Given the description of an element on the screen output the (x, y) to click on. 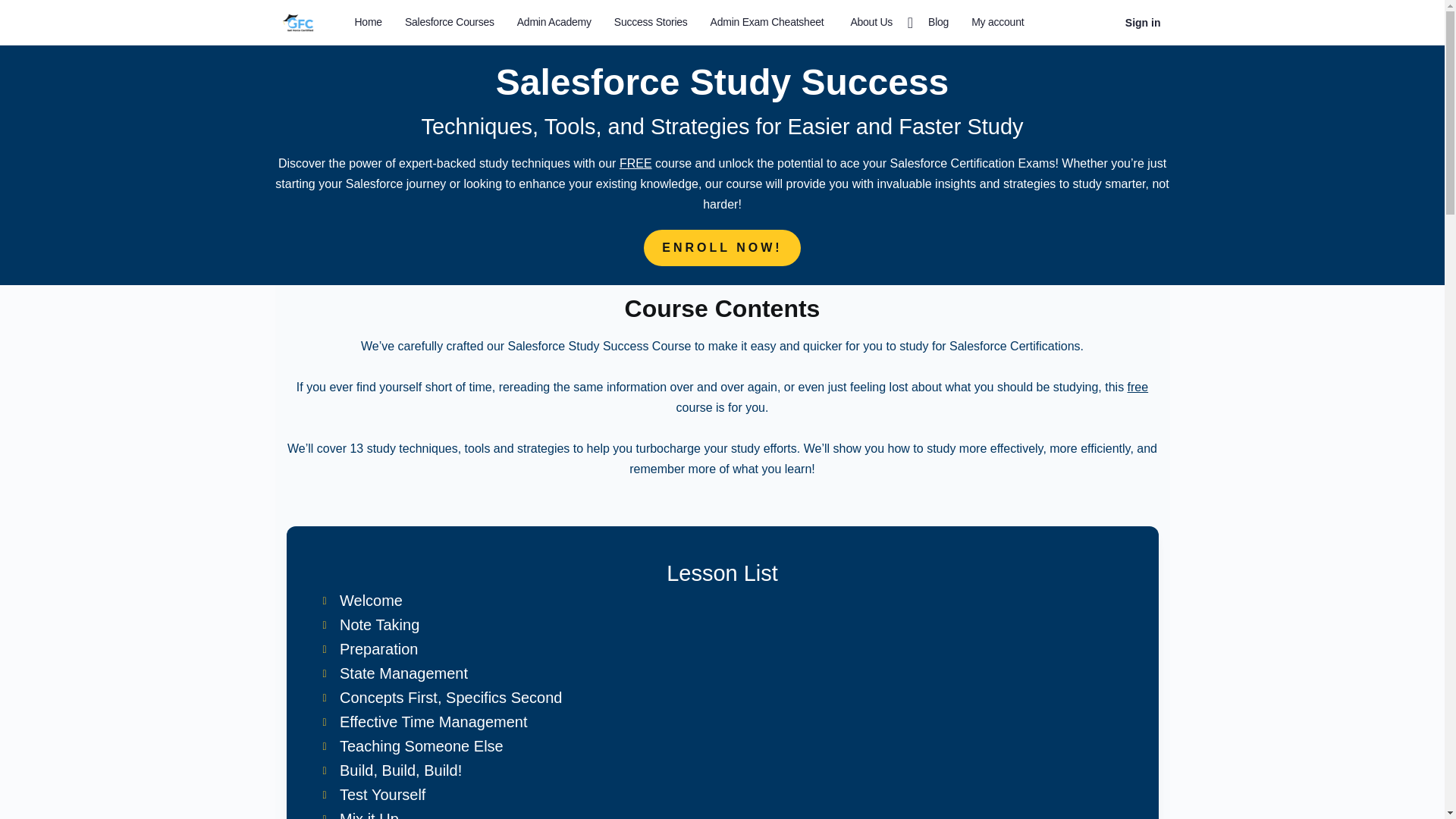
Salesforce Courses (449, 22)
Home (368, 22)
Success Stories (651, 22)
GFC Transparent Icon - Get Force Certified (297, 22)
Admin Exam Cheatsheet (767, 22)
Sign in (1143, 22)
About Us (877, 22)
Admin Academy (553, 22)
My account (996, 22)
ENROLL NOW! (721, 248)
Blog (938, 22)
